Given the description of an element on the screen output the (x, y) to click on. 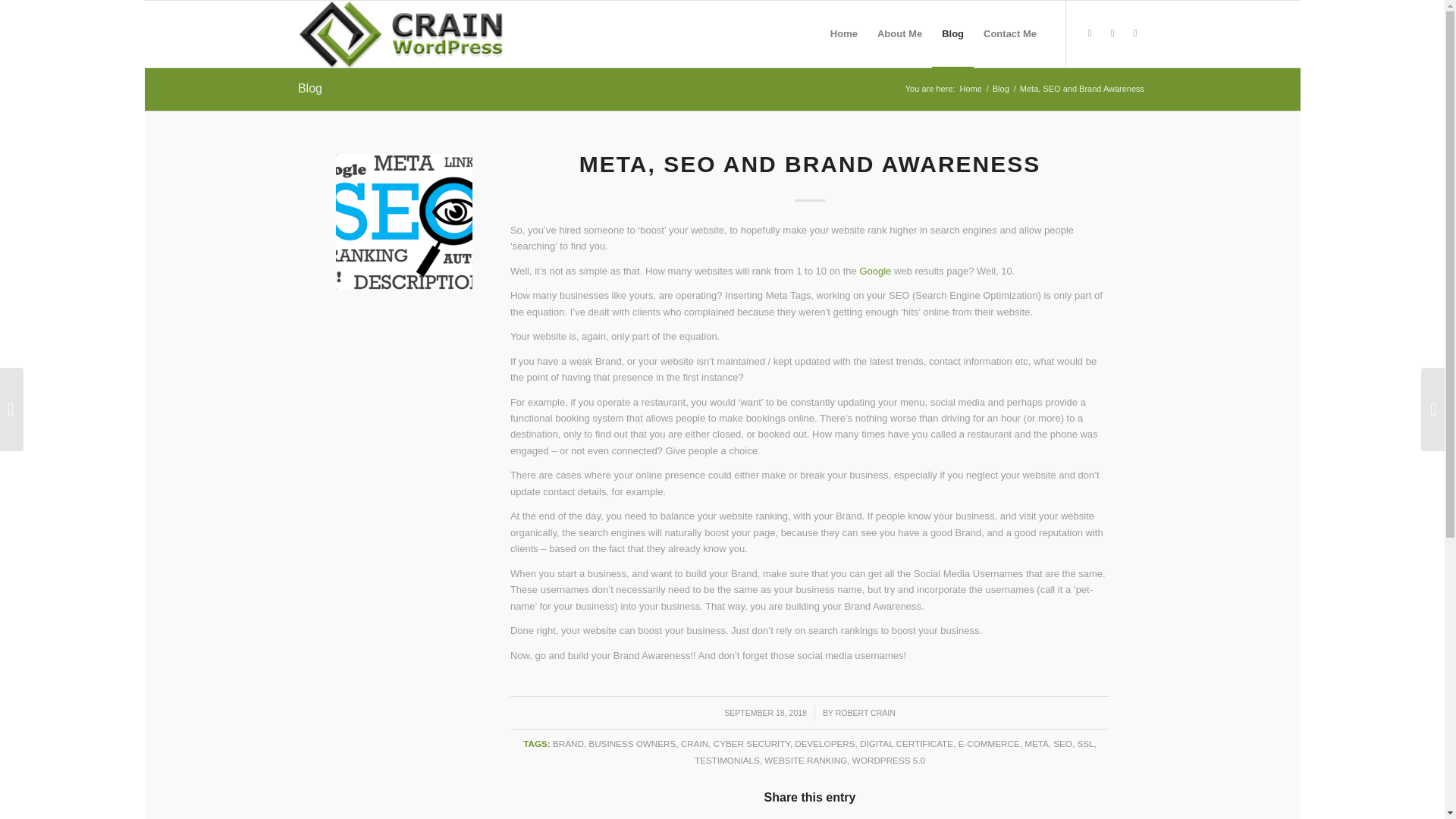
META (1036, 743)
DIGITAL CERTIFICATE (906, 743)
About Me (899, 33)
SSL (1085, 743)
Contact Me (1010, 33)
Posts by Robert Crain (865, 712)
BUSINESS OWNERS (631, 743)
Home (970, 89)
TESTIMONIALS (727, 759)
DEVELOPERS (824, 743)
Blog (309, 88)
Instagram (1112, 33)
SEO (1061, 743)
E-COMMERCE (989, 743)
WEBSITE RANKING (805, 759)
